Given the description of an element on the screen output the (x, y) to click on. 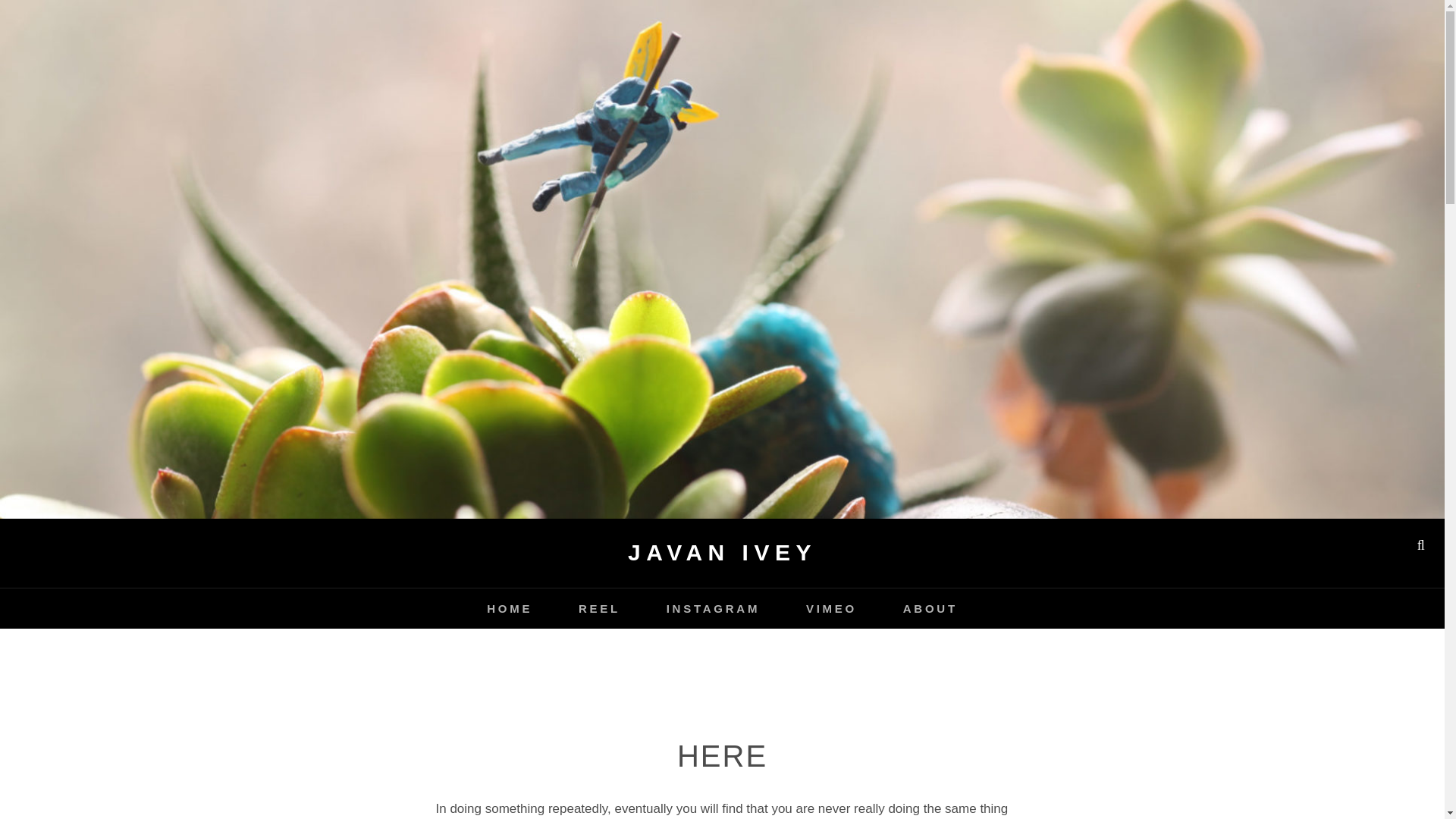
INSTAGRAM (712, 608)
HOME (509, 608)
JAVAN IVEY (721, 552)
VIMEO (830, 608)
ABOUT (930, 608)
REEL (599, 608)
